Given the description of an element on the screen output the (x, y) to click on. 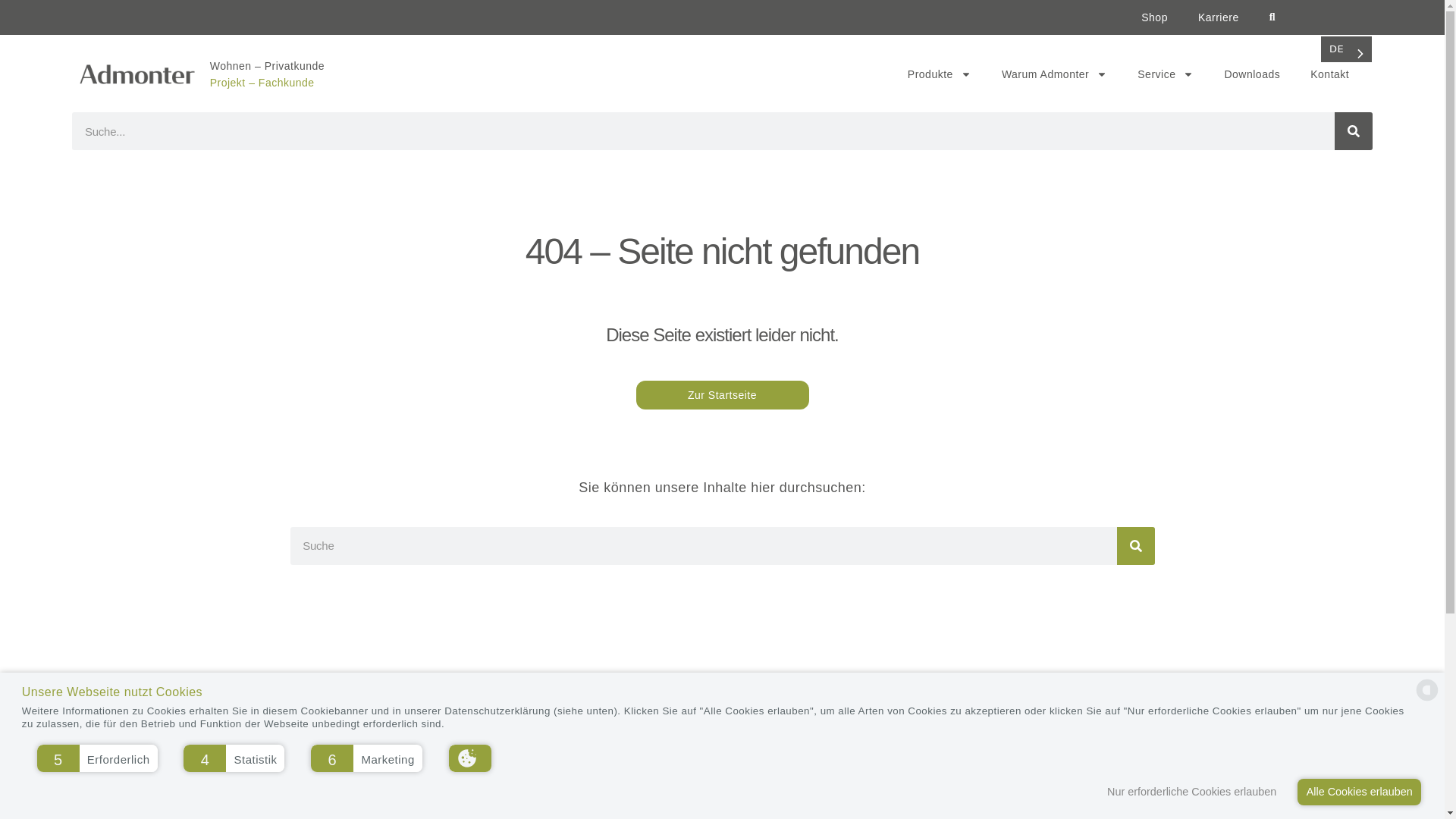
Karriere (1217, 17)
DE (1346, 48)
Produkte (939, 73)
Shop (1153, 17)
Alle Cookies erlauben (1359, 791)
Nur erforderliche Cookies erlauben (1195, 791)
